Given the description of an element on the screen output the (x, y) to click on. 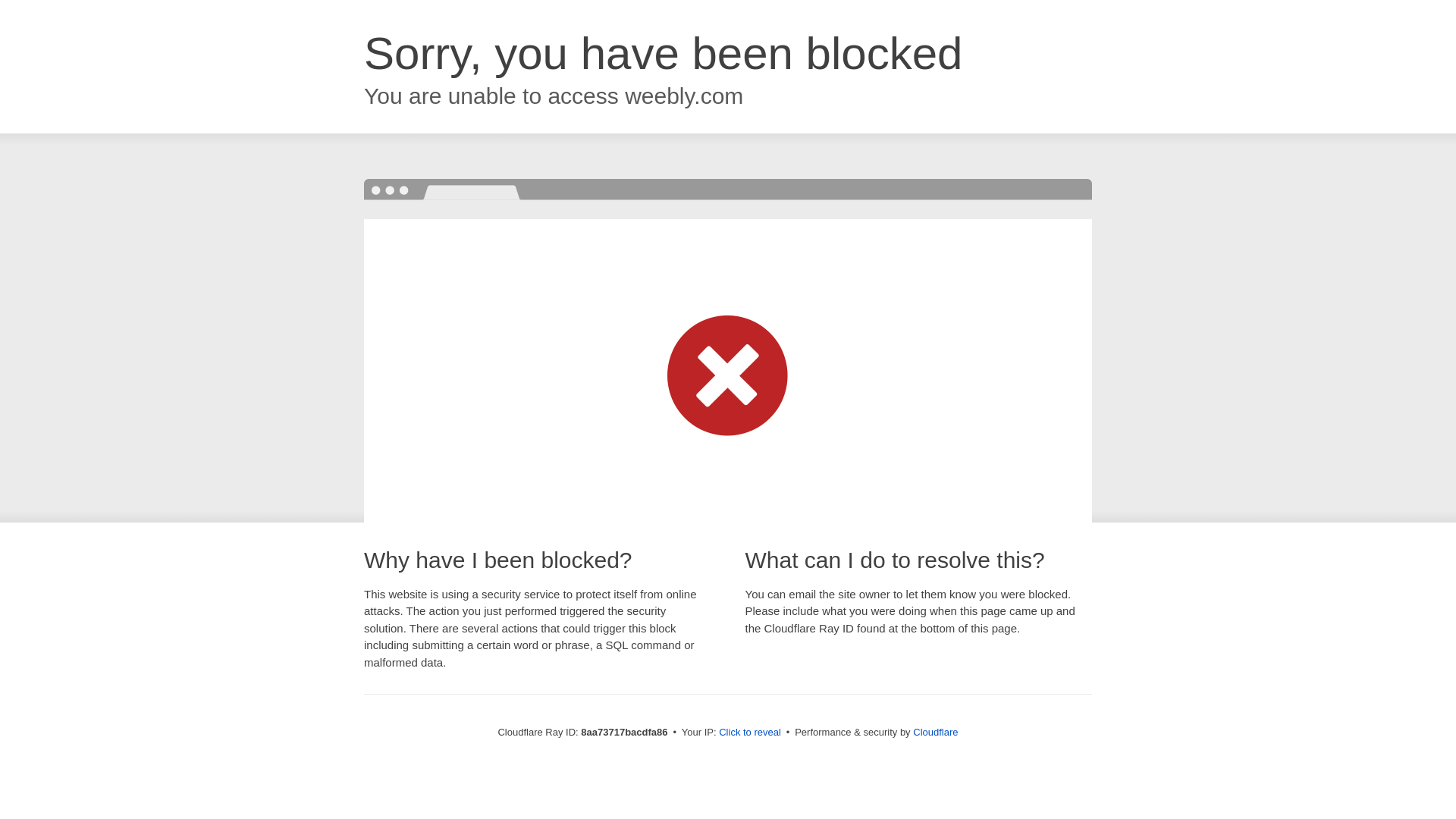
Cloudflare (935, 731)
Click to reveal (749, 732)
